Given the description of an element on the screen output the (x, y) to click on. 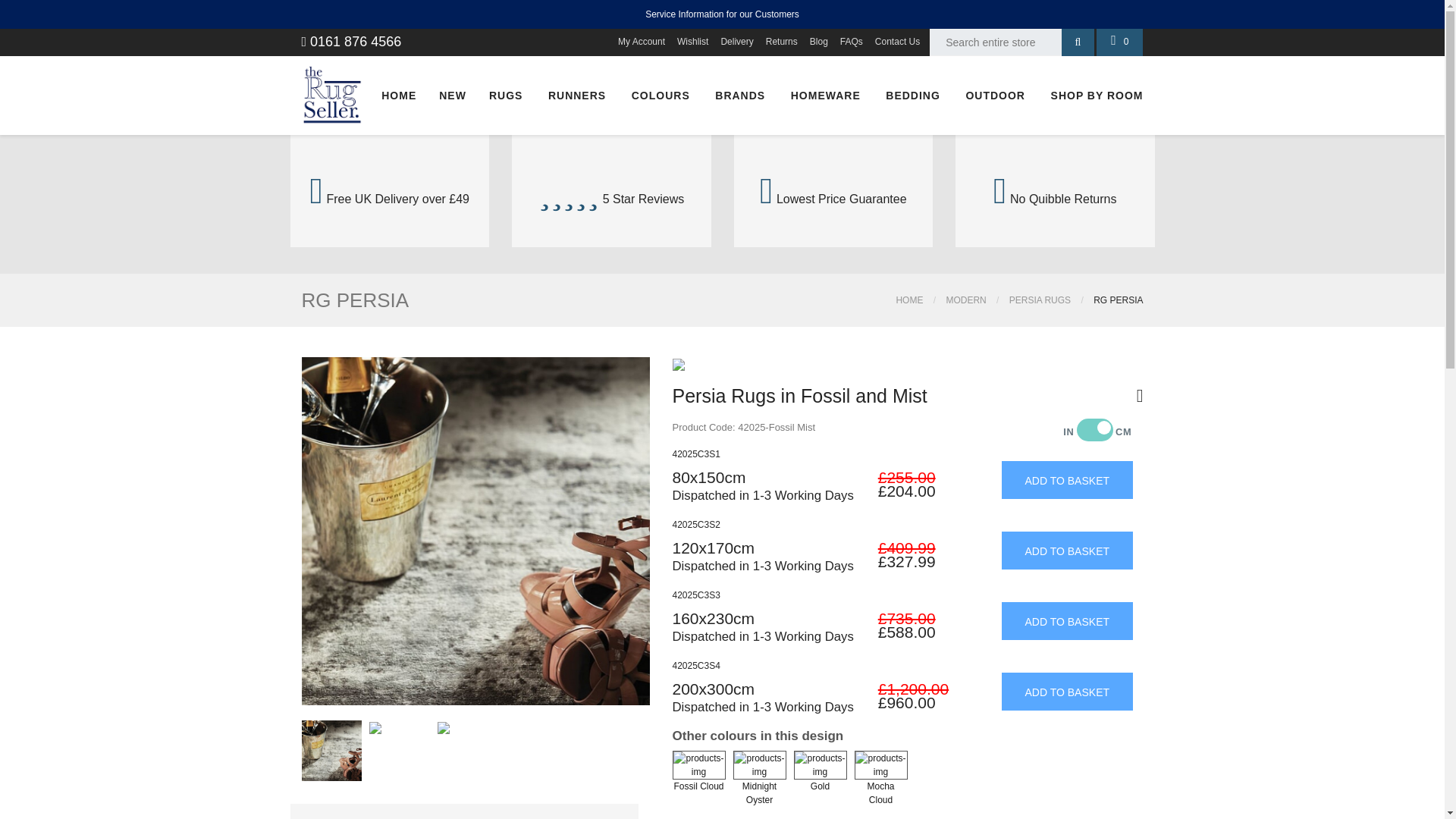
Contact Us (896, 41)
Wishlist (692, 41)
Delivery (736, 41)
My Account (640, 41)
0161 876 4566 (351, 41)
Returns (780, 41)
Service Information for our Customers (722, 14)
0 (1119, 42)
ADD TO BASKET (1066, 690)
ADD TO BASKET (1066, 549)
